Given the description of an element on the screen output the (x, y) to click on. 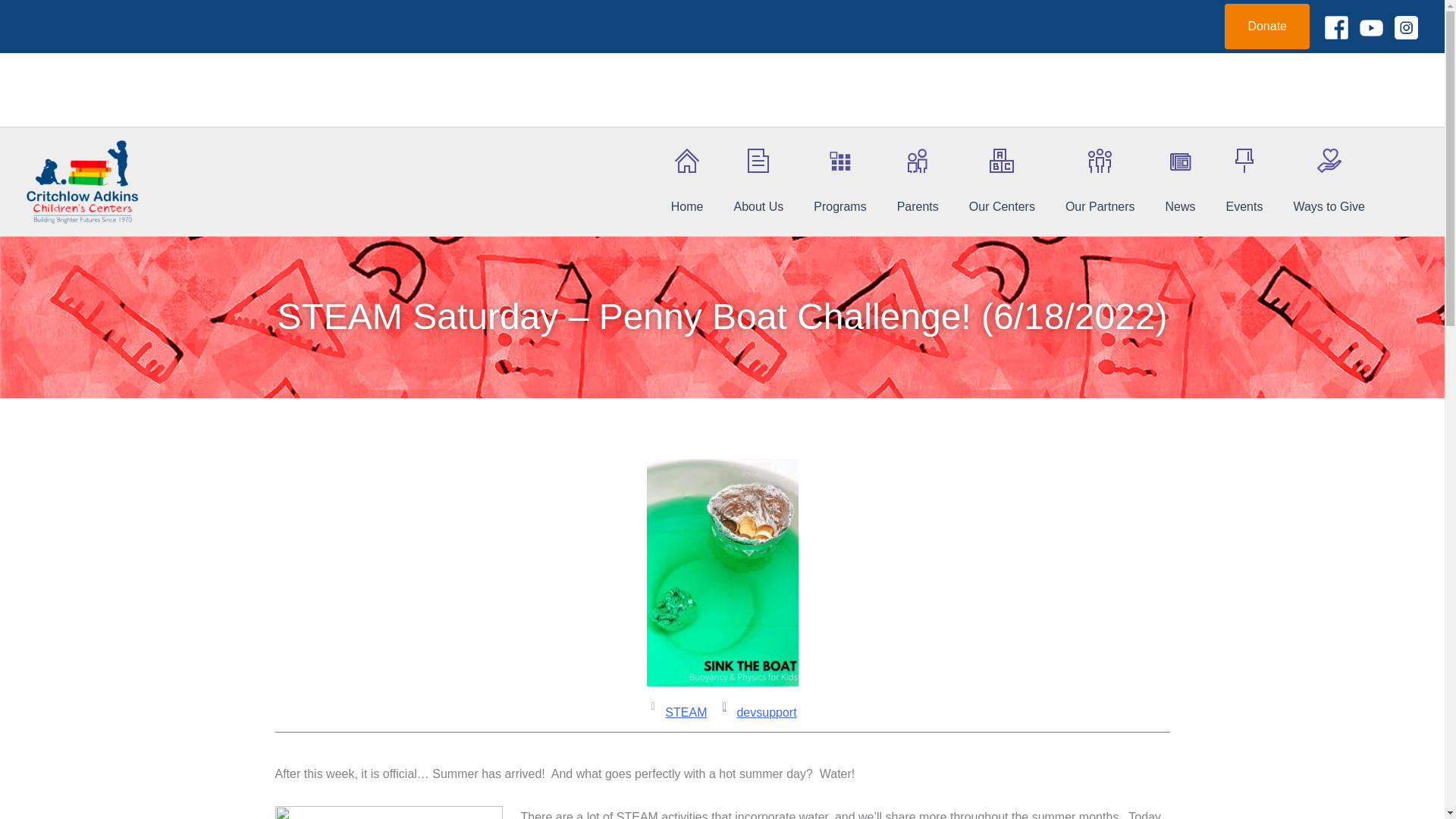
Programs (838, 189)
logo-147x155 - Critchlow Adkins Children's Centers (82, 181)
Donate (1266, 26)
About Us (757, 189)
 - Critchlow Adkins Children's Centers (388, 812)
Our Centers (1001, 189)
  Learn About Our Cordova Expansion!  (722, 115)
